Given the description of an element on the screen output the (x, y) to click on. 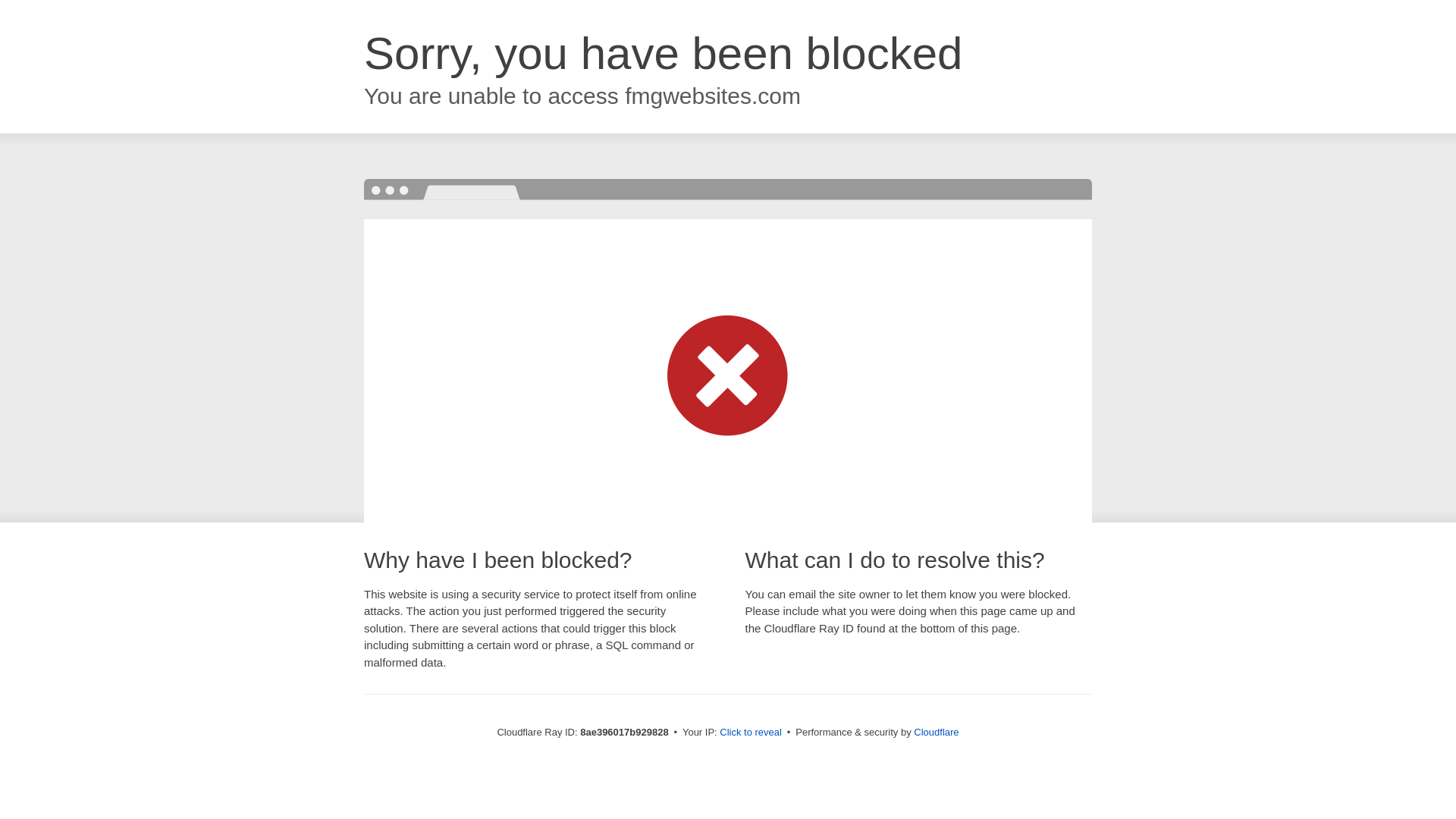
Click to reveal (750, 732)
Cloudflare (936, 731)
